Given the description of an element on the screen output the (x, y) to click on. 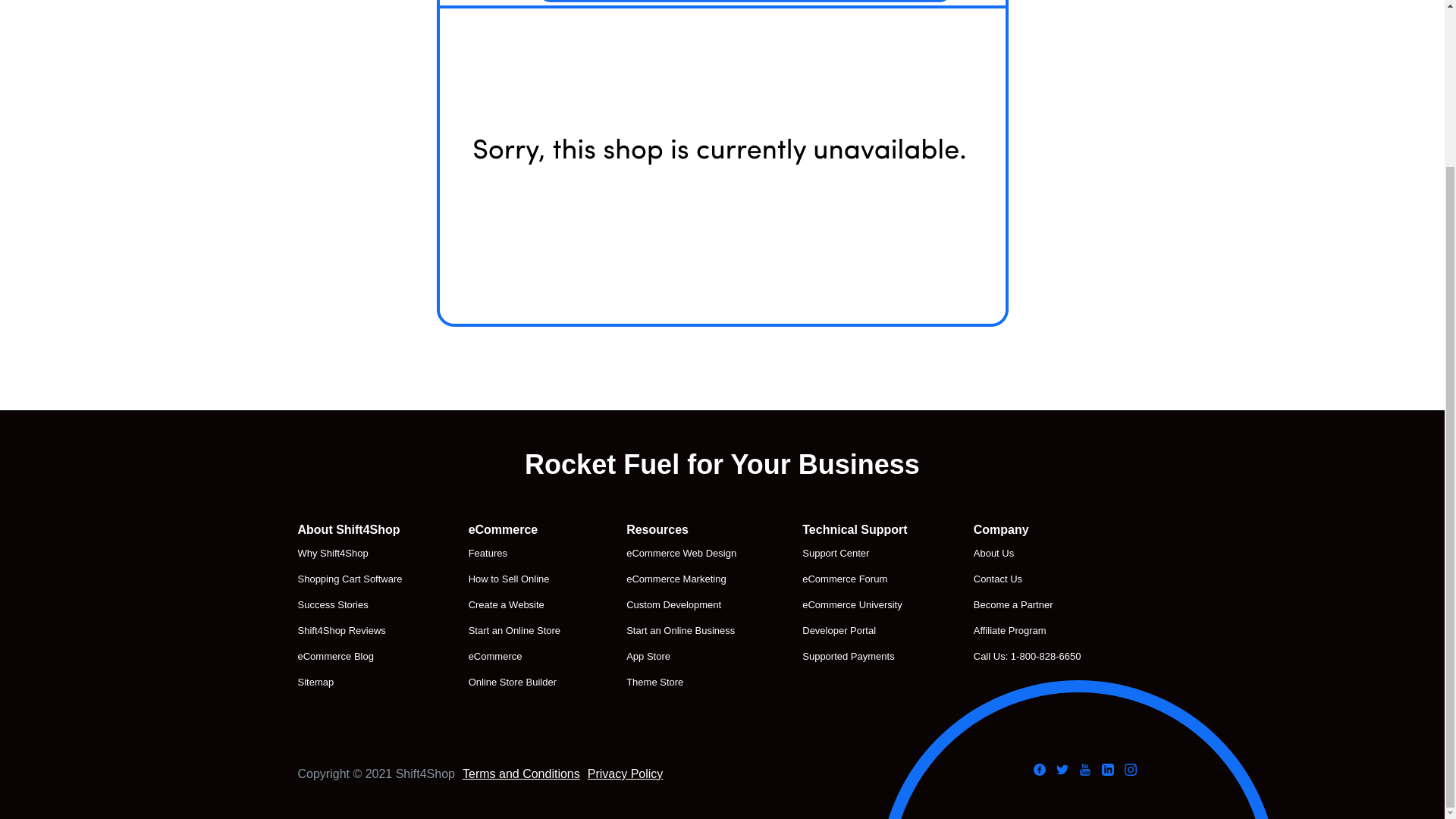
How to Sell Online (514, 578)
Start an Online Business (681, 630)
Call Us: 1-800-828-6650 (1027, 656)
Shopping Cart Software (349, 578)
Supported Payments (854, 656)
Privacy Policy (625, 773)
eCommerce Forum (854, 578)
Become a Partner (1027, 604)
eCommerce (514, 656)
eCommerce University (854, 604)
